Given the description of an element on the screen output the (x, y) to click on. 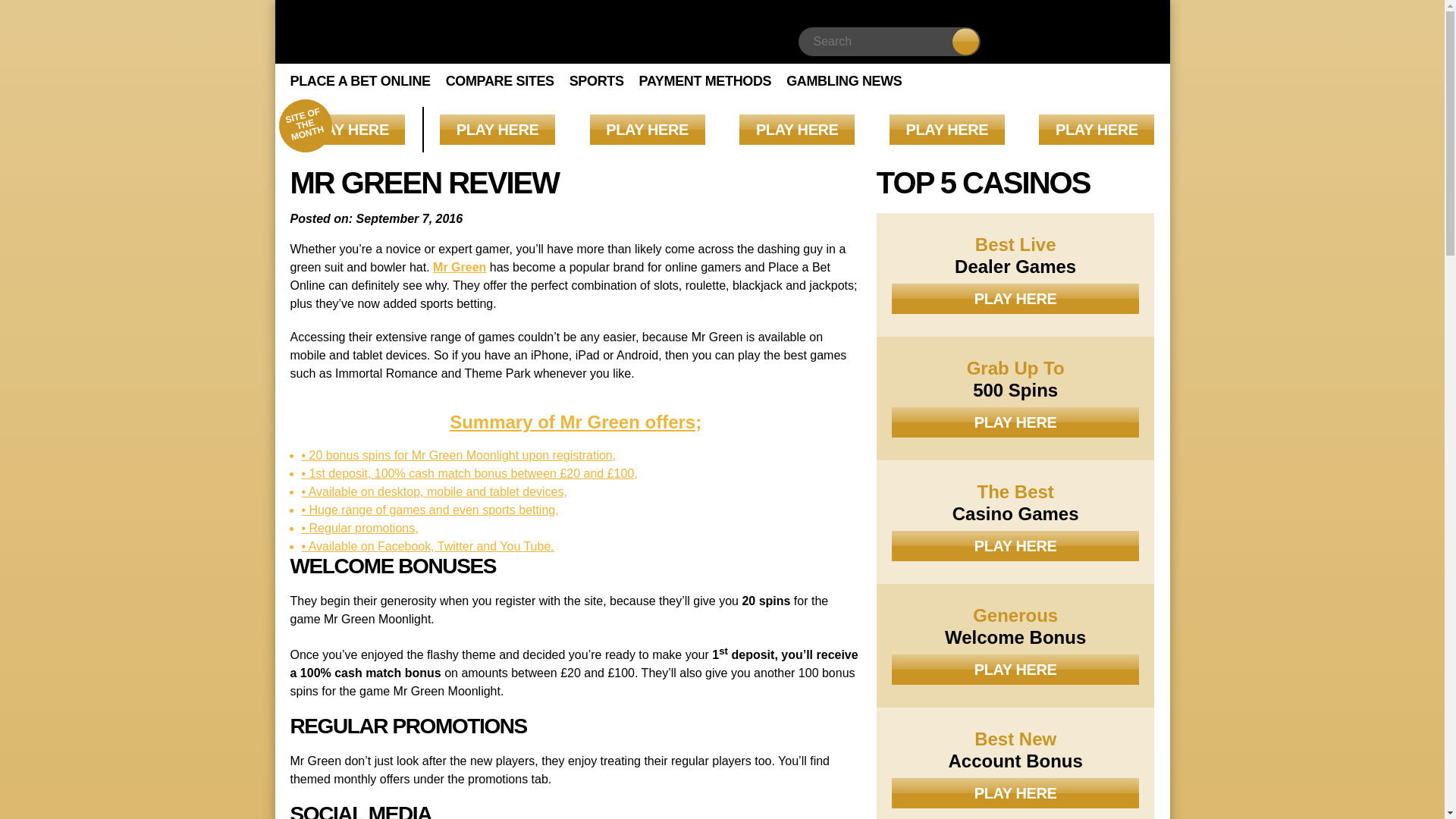
PAYMENT METHODS (705, 80)
PLAY HERE (496, 129)
PLACE A BET ONLINE (359, 80)
PLAY HERE (1096, 129)
PLAY HERE (346, 129)
GAMBLING NEWS (843, 80)
Mr Green (459, 267)
PLAY HERE (796, 129)
COMPARE SITES (499, 80)
SPORTS (596, 80)
